Given the description of an element on the screen output the (x, y) to click on. 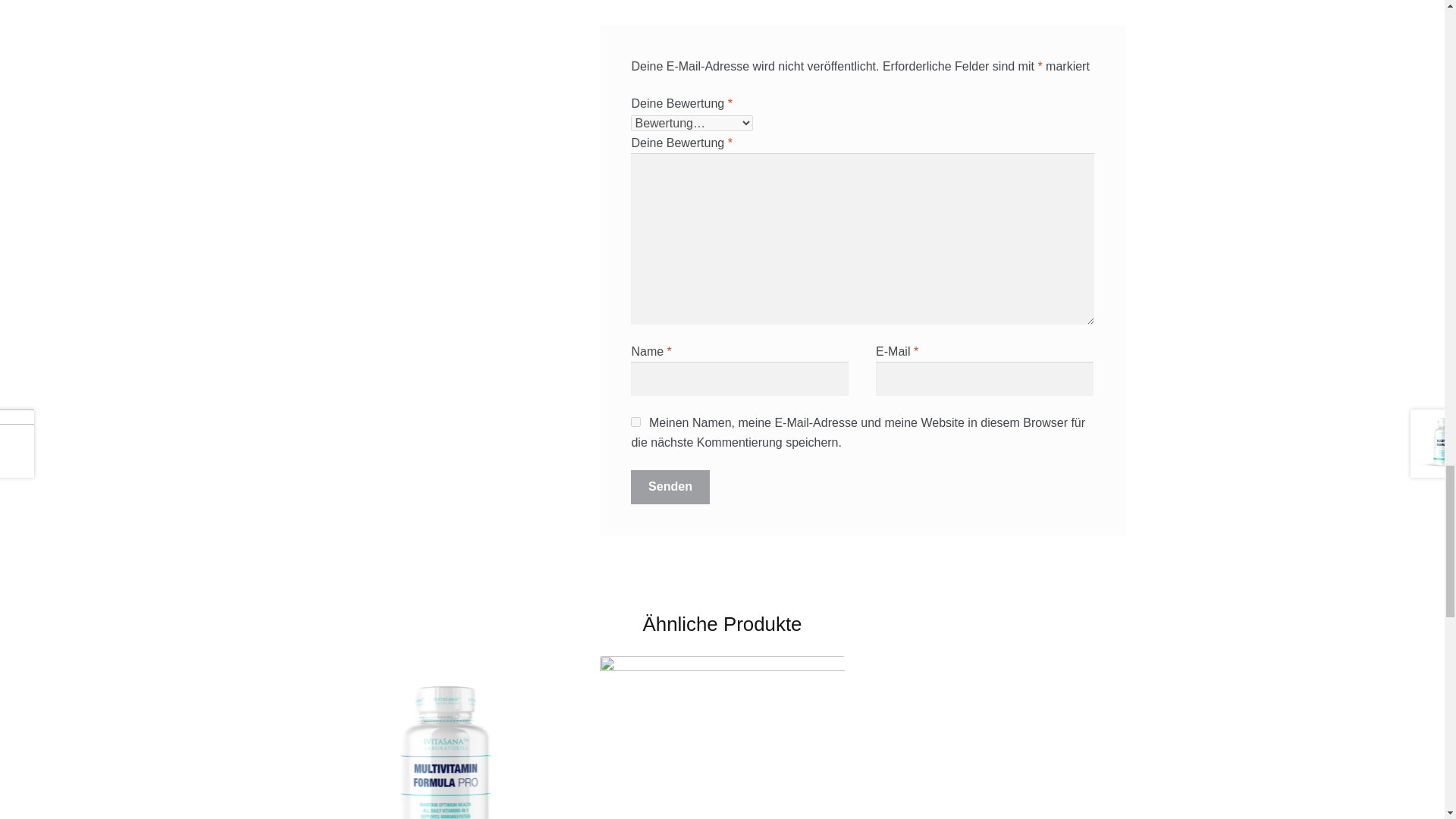
Senden (669, 487)
yes (635, 421)
Senden (669, 487)
